Given the description of an element on the screen output the (x, y) to click on. 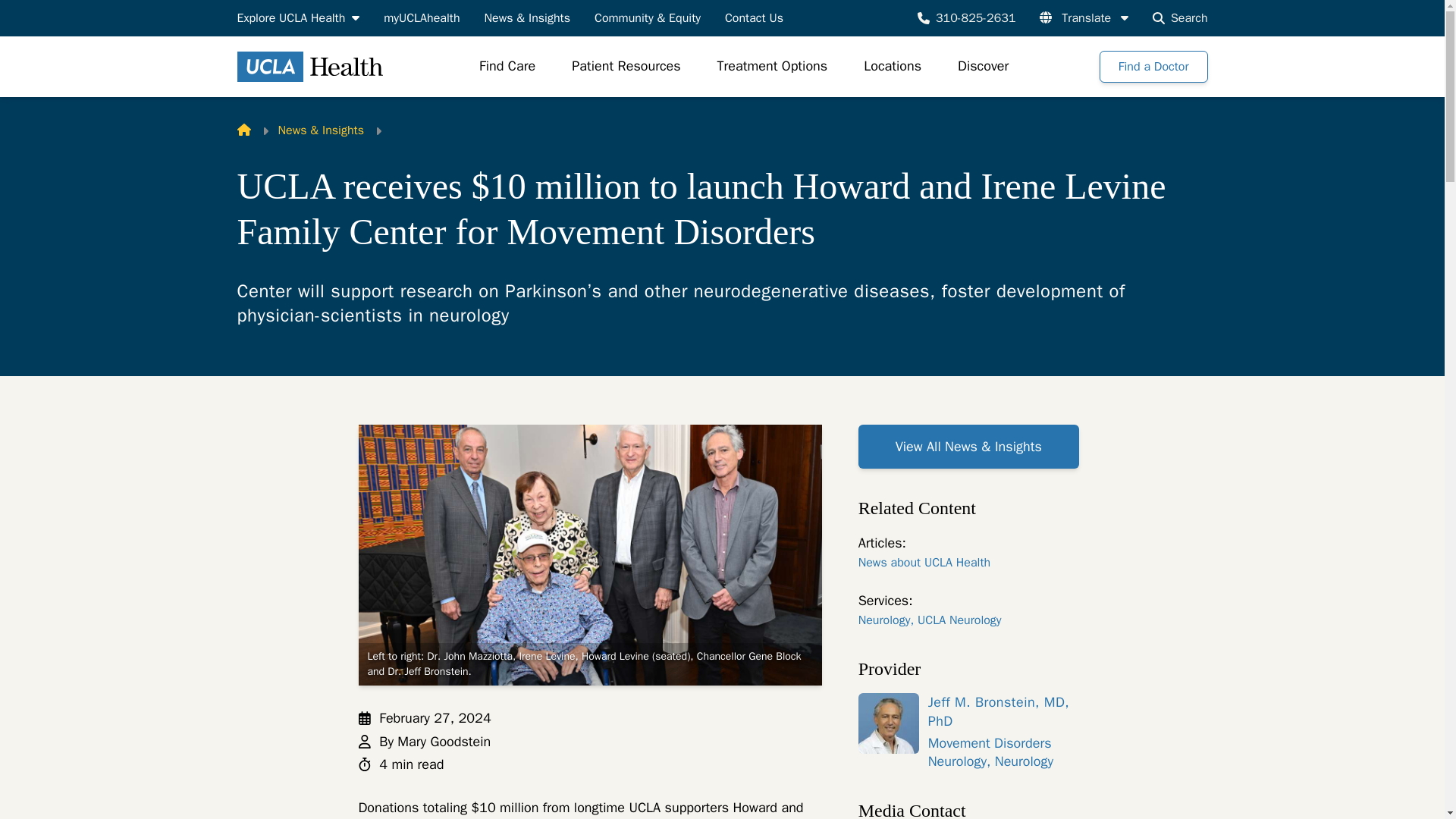
myUCLAhealth Login. (421, 17)
Contact Us (753, 17)
Explore UCLA Health (297, 17)
Find Care (507, 66)
Search (1180, 17)
myUCLAhealth (421, 17)
310-825-2631 (966, 17)
Translate (1083, 17)
